Given the description of an element on the screen output the (x, y) to click on. 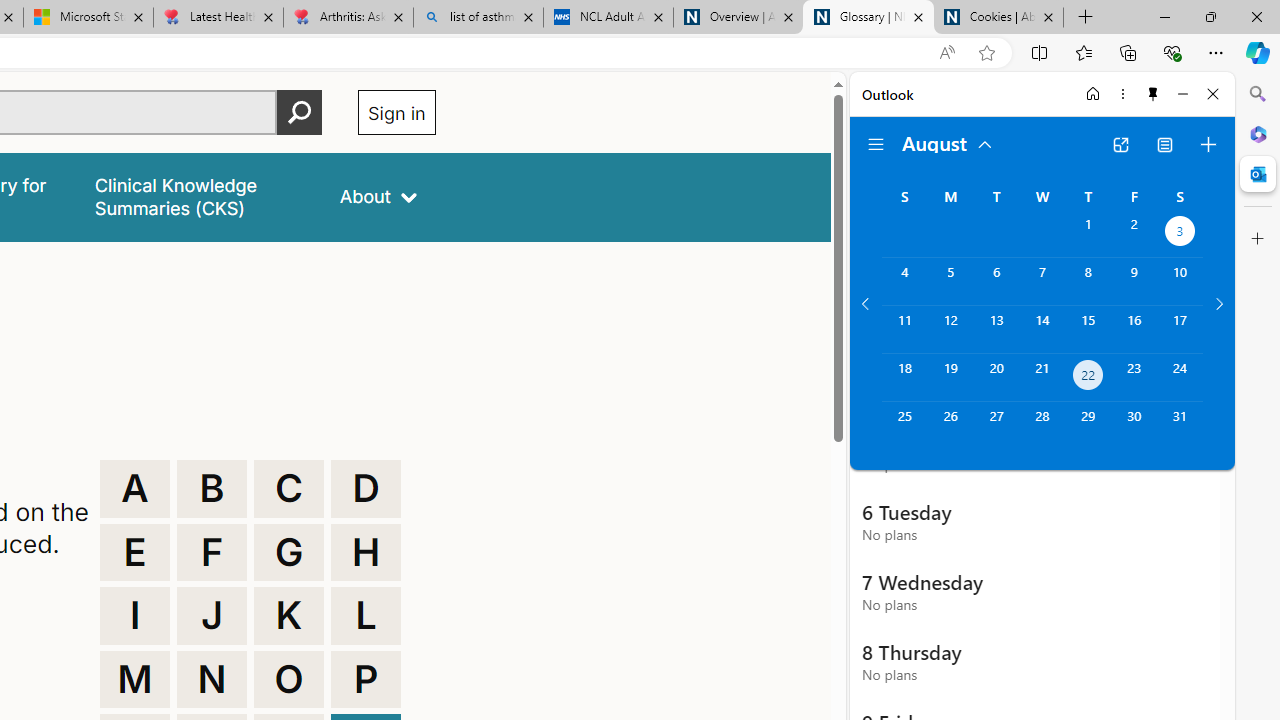
Friday, August 23, 2024.  (1134, 377)
View Switcher. Current view is Agenda view (1165, 144)
Sunday, August 25, 2024.  (904, 425)
K (289, 615)
Monday, August 12, 2024.  (950, 329)
Tuesday, August 13, 2024.  (996, 329)
B (212, 488)
P (365, 679)
